Given the description of an element on the screen output the (x, y) to click on. 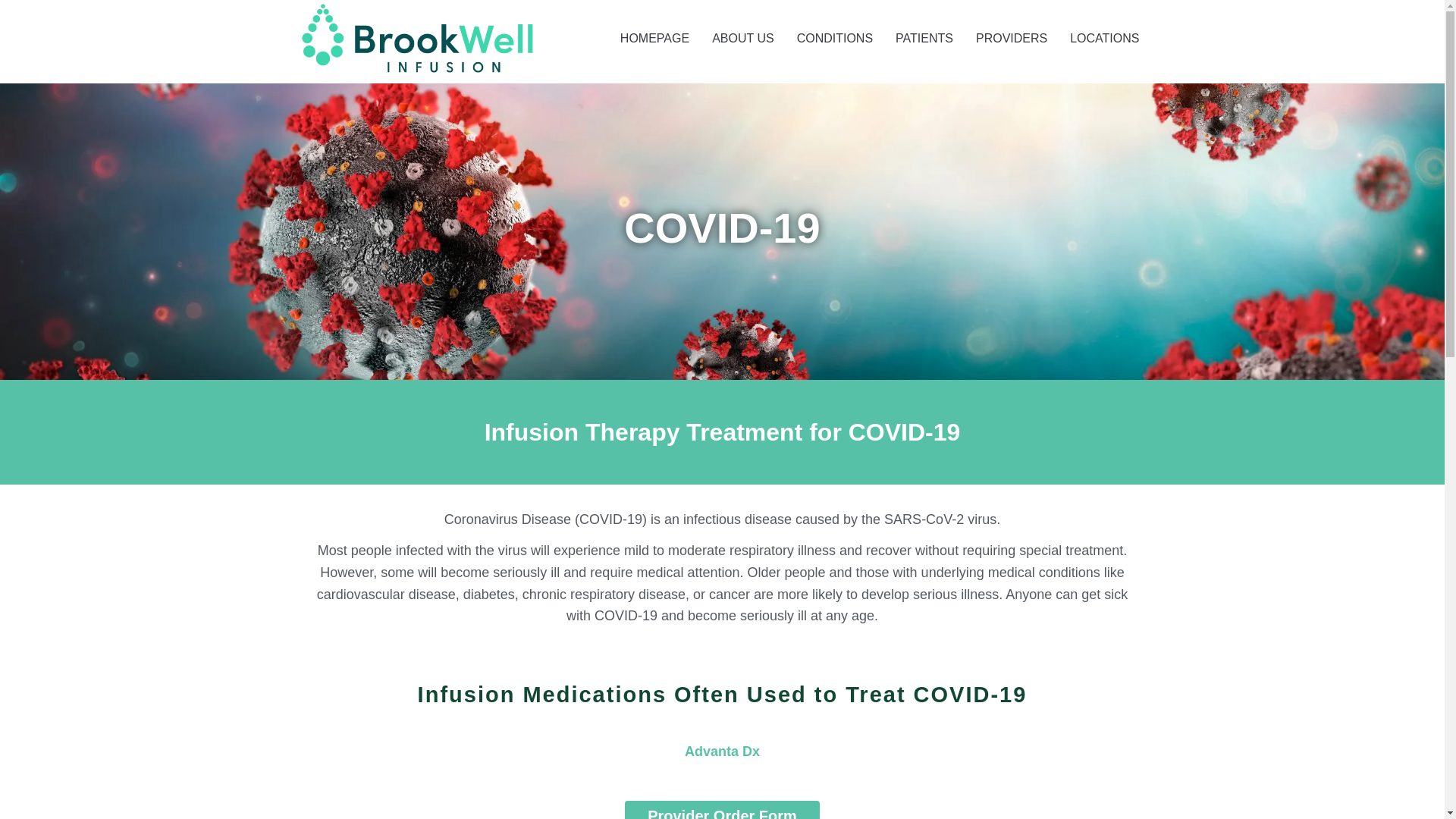
HOMEPAGE (642, 38)
ABOUT US (731, 38)
CONDITIONS (823, 38)
